Given the description of an element on the screen output the (x, y) to click on. 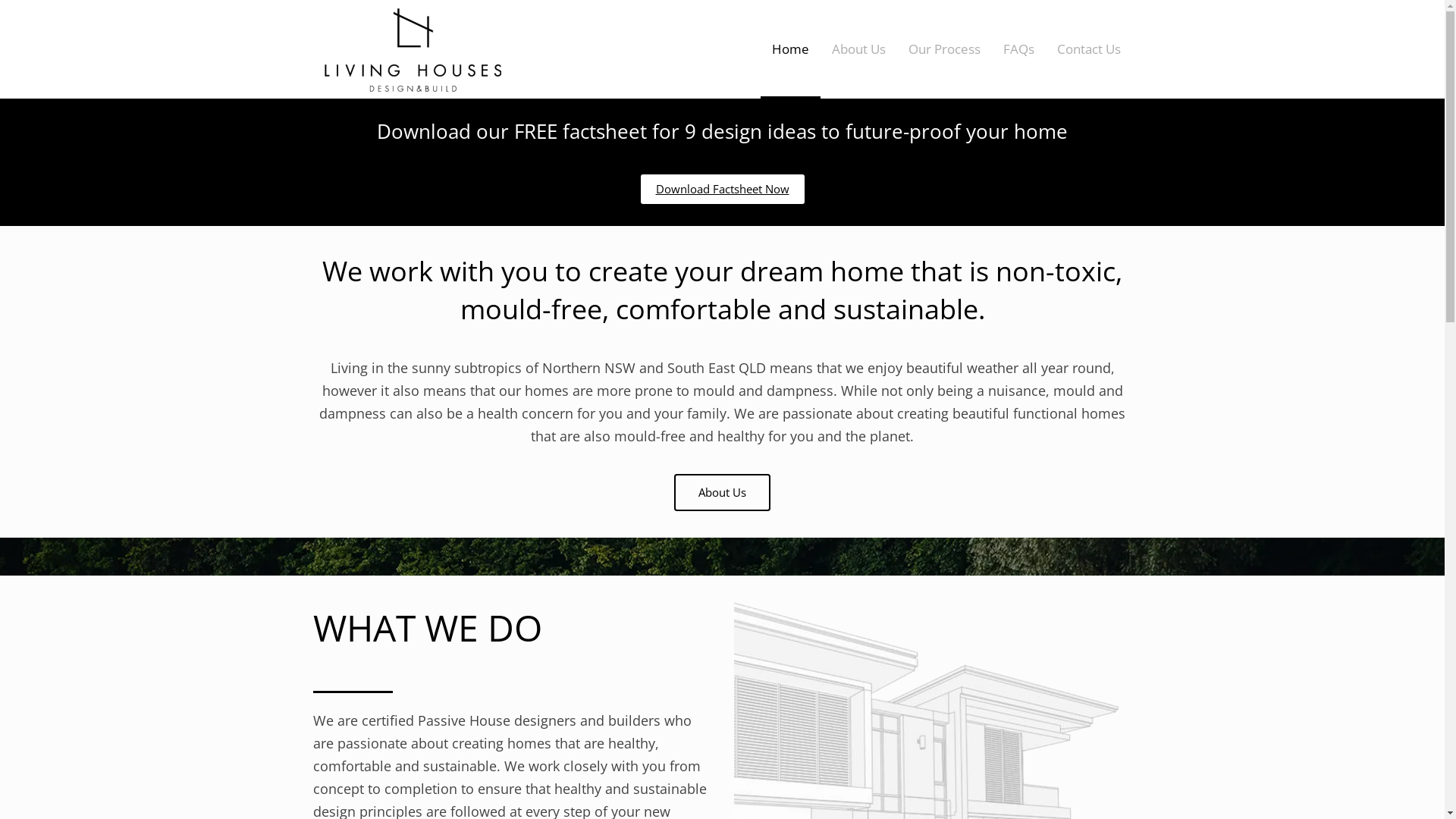
Contact Us Element type: text (1087, 49)
FAQs Element type: text (1018, 49)
Our Process Element type: text (943, 49)
Home Element type: text (789, 49)
About Us Element type: text (722, 492)
Download Factsheet Now Element type: text (721, 188)
About Us Element type: text (858, 49)
